Given the description of an element on the screen output the (x, y) to click on. 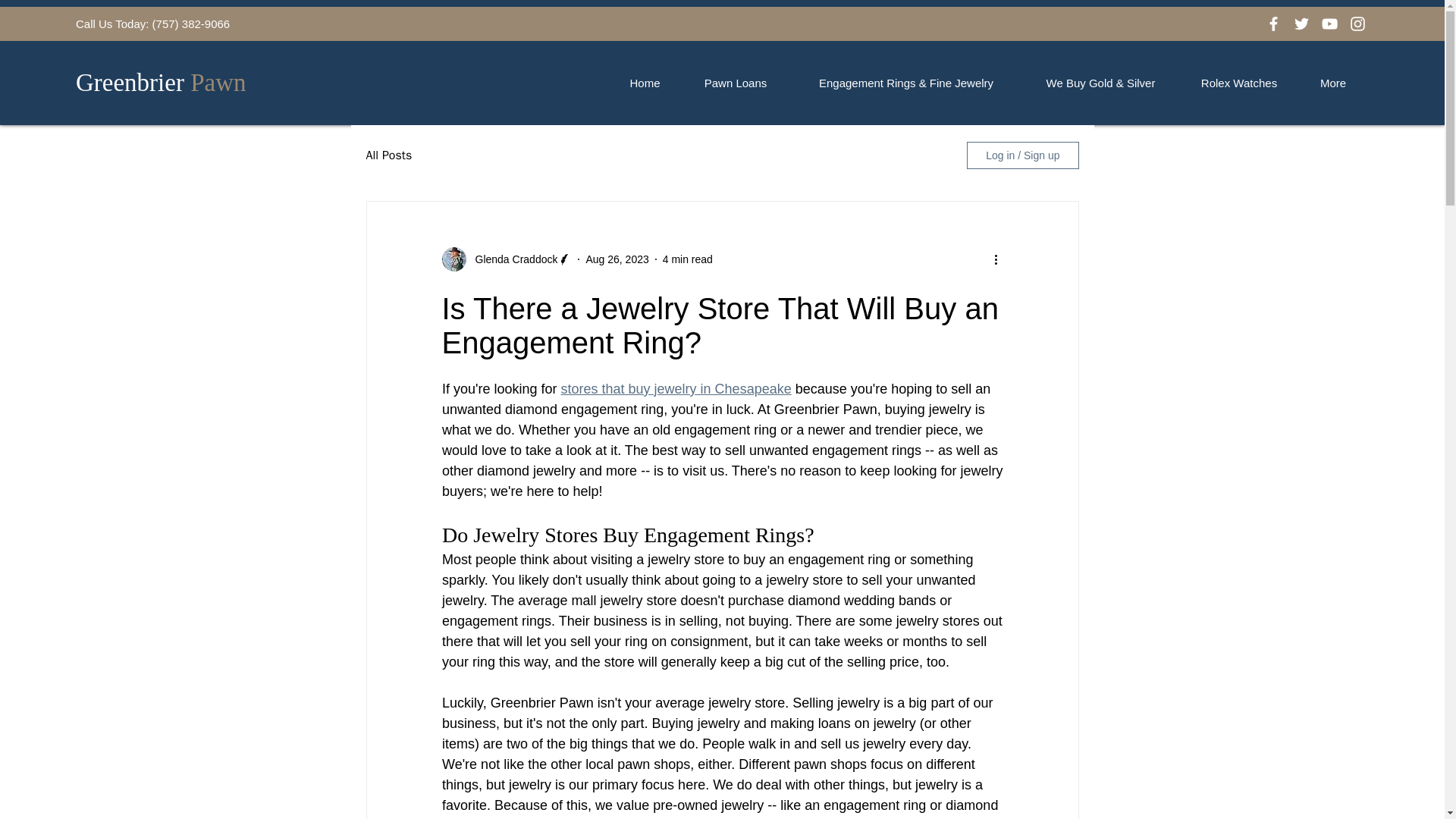
Greenbrier Pawn (160, 82)
Pawn Loans (735, 83)
Glenda Craddock (511, 259)
4 min read (687, 259)
Aug 26, 2023 (616, 259)
All Posts (388, 154)
stores that buy jewelry in Chesapeake (675, 388)
Home (644, 83)
